Given the description of an element on the screen output the (x, y) to click on. 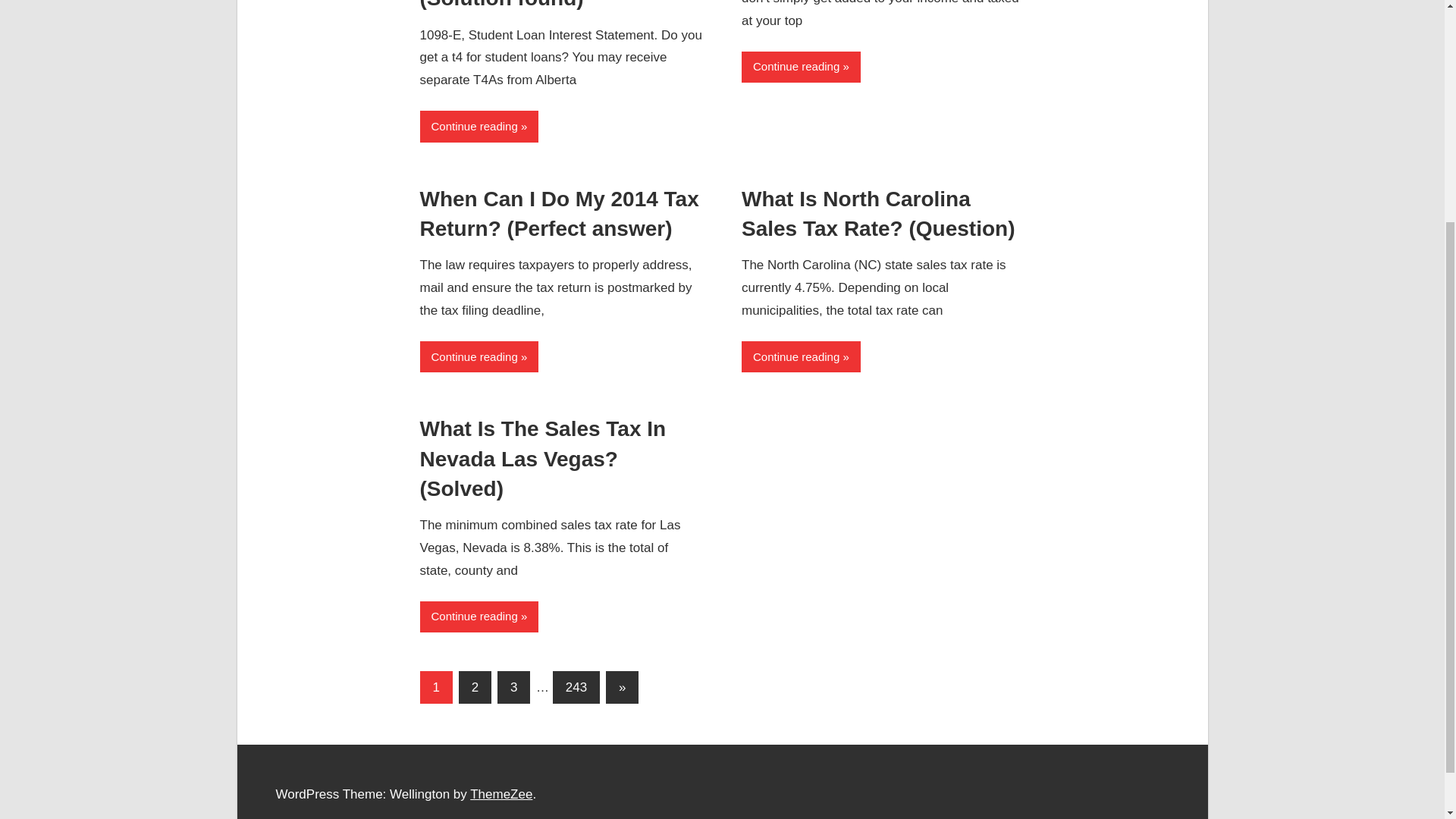
Continue reading (800, 66)
3 (513, 686)
Continue reading (479, 616)
ThemeZee (501, 794)
243 (576, 686)
Continue reading (800, 356)
Continue reading (479, 125)
2 (475, 686)
Continue reading (479, 356)
